Given the description of an element on the screen output the (x, y) to click on. 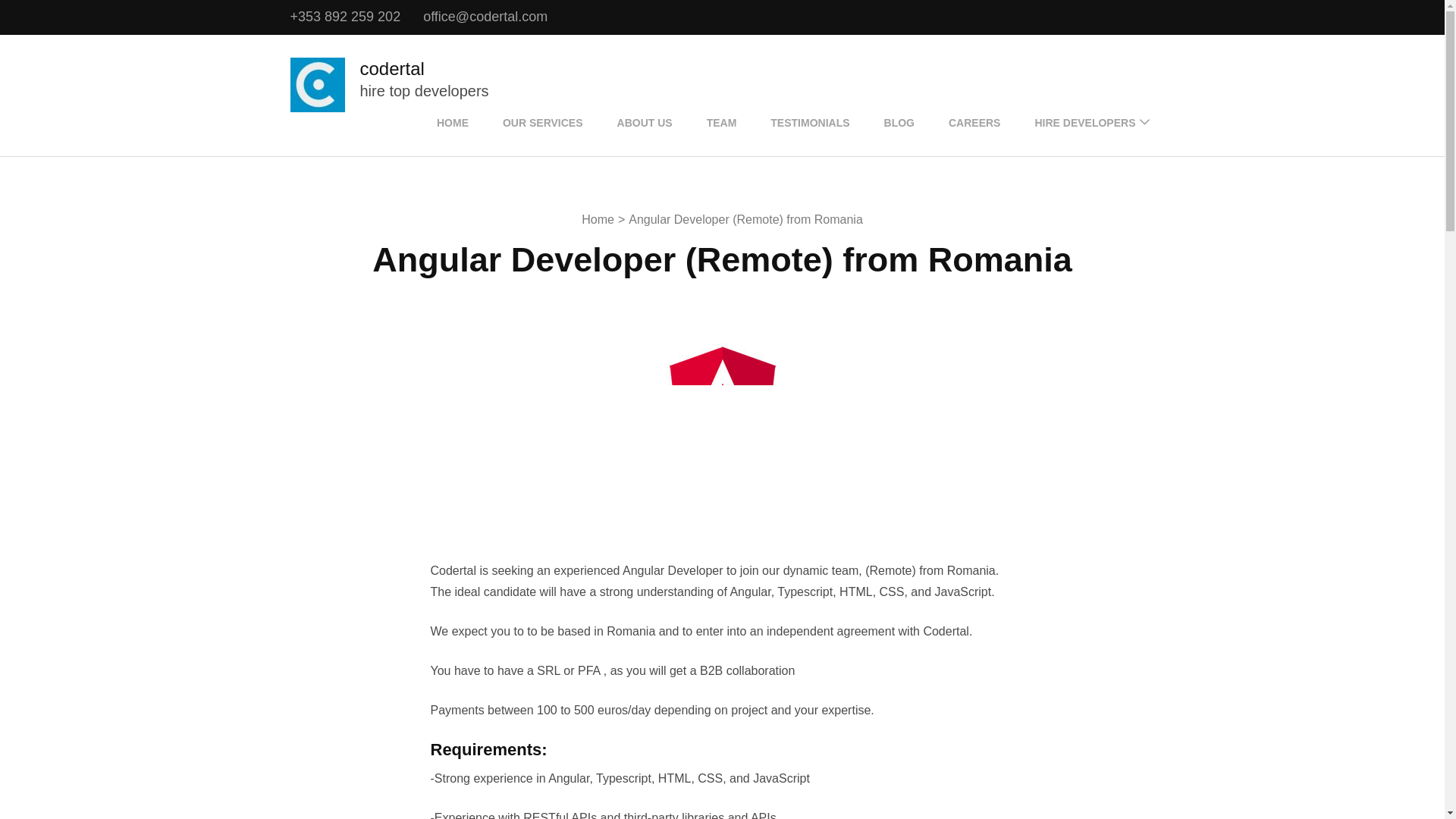
About Us (644, 122)
Our Services (542, 122)
Careers (974, 122)
Management Team (722, 122)
Testimonials (810, 122)
